Given the description of an element on the screen output the (x, y) to click on. 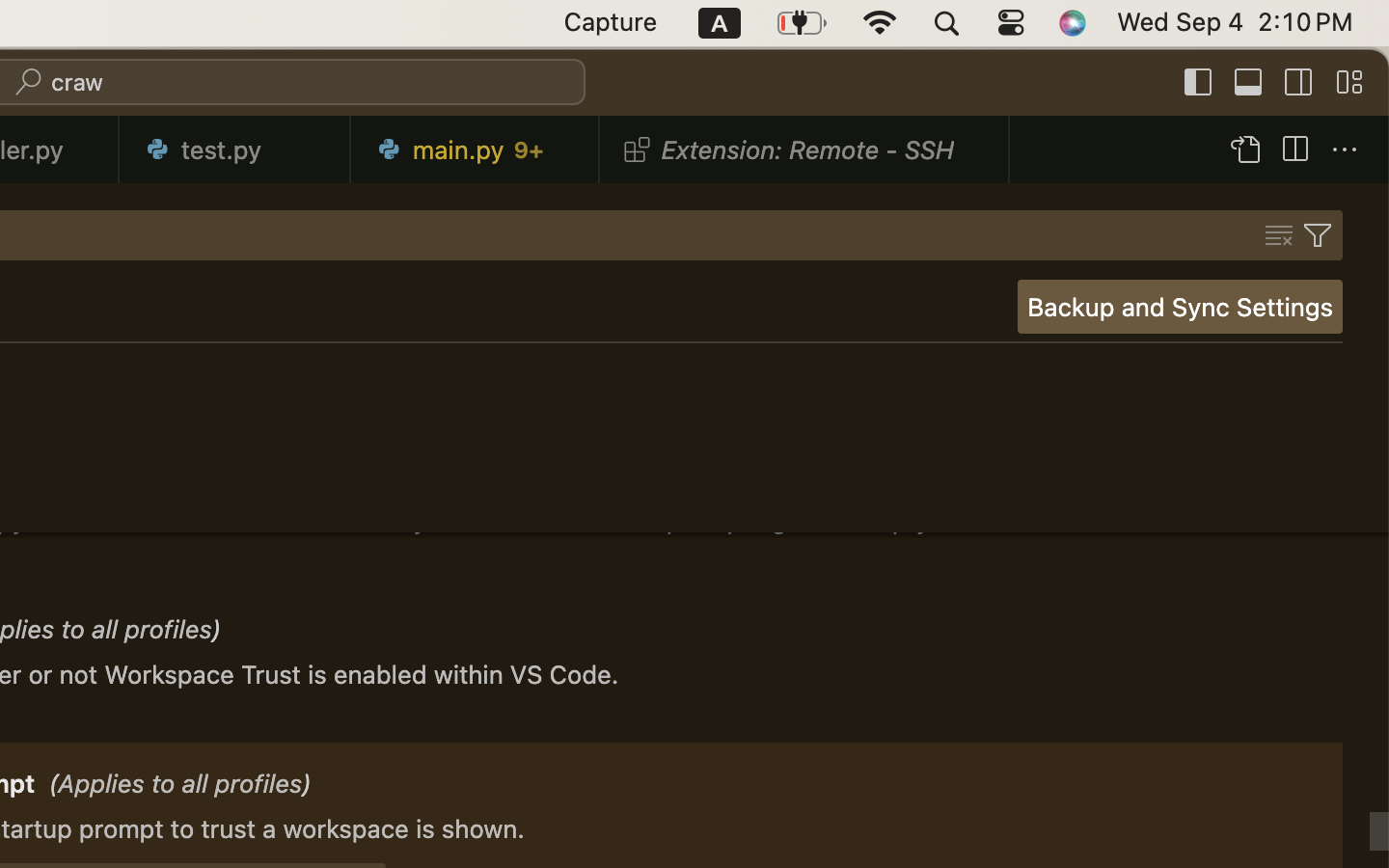
0 Extension: Remote - SSH   Element type: AXRadioButton (804, 149)
Applies to all profiles Element type: AXGroup (174, 442)
 Element type: AXButton (1278, 235)
0 main.py   9+ Element type: AXRadioButton (475, 149)
0 test.py   Element type: AXRadioButton (235, 149)
